Given the description of an element on the screen output the (x, y) to click on. 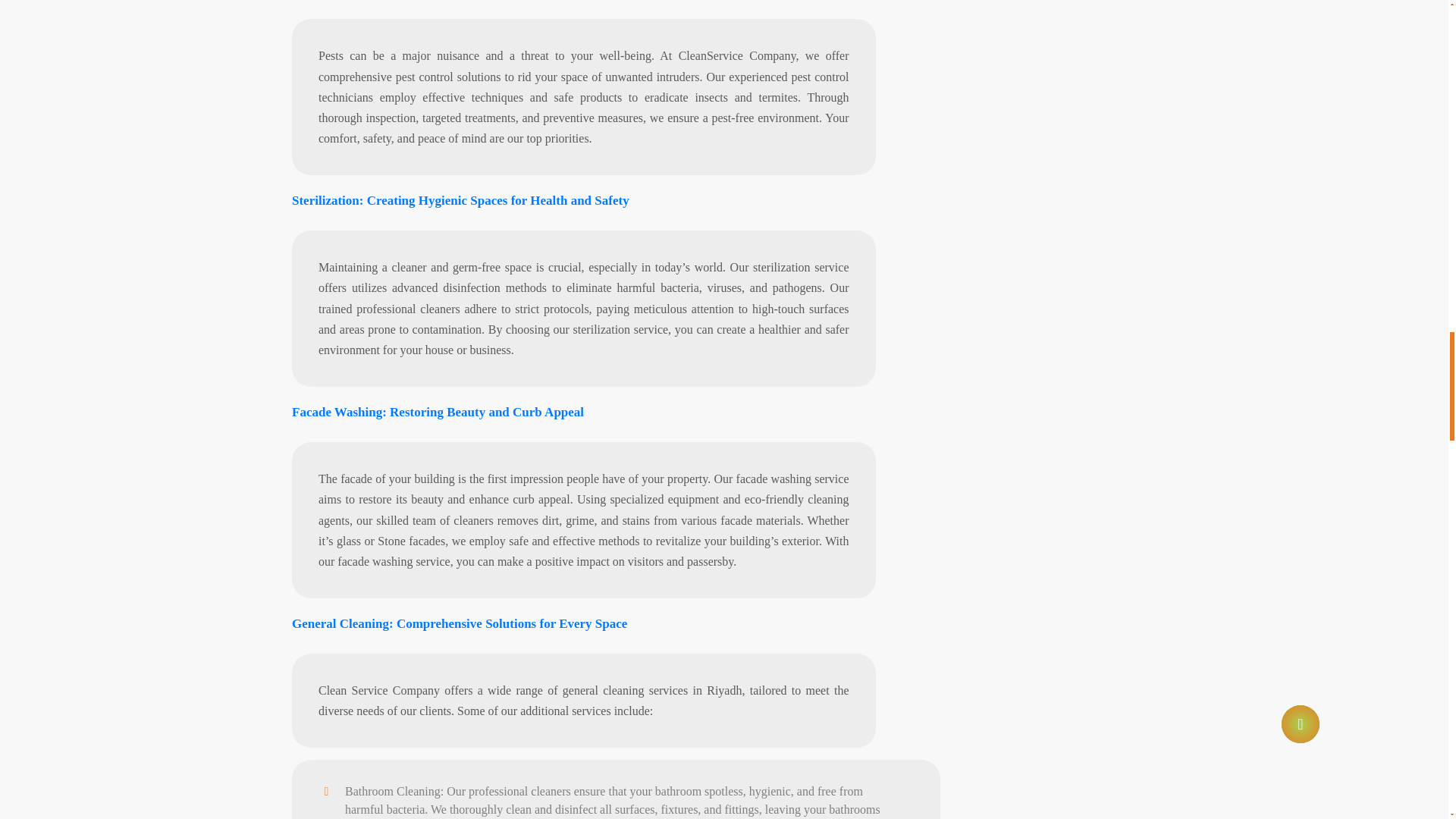
Facade Washing: Restoring Beauty and Curb Appeal (437, 316)
General Cleaning: Comprehensive Solutions for Every Space (459, 527)
